Given the description of an element on the screen output the (x, y) to click on. 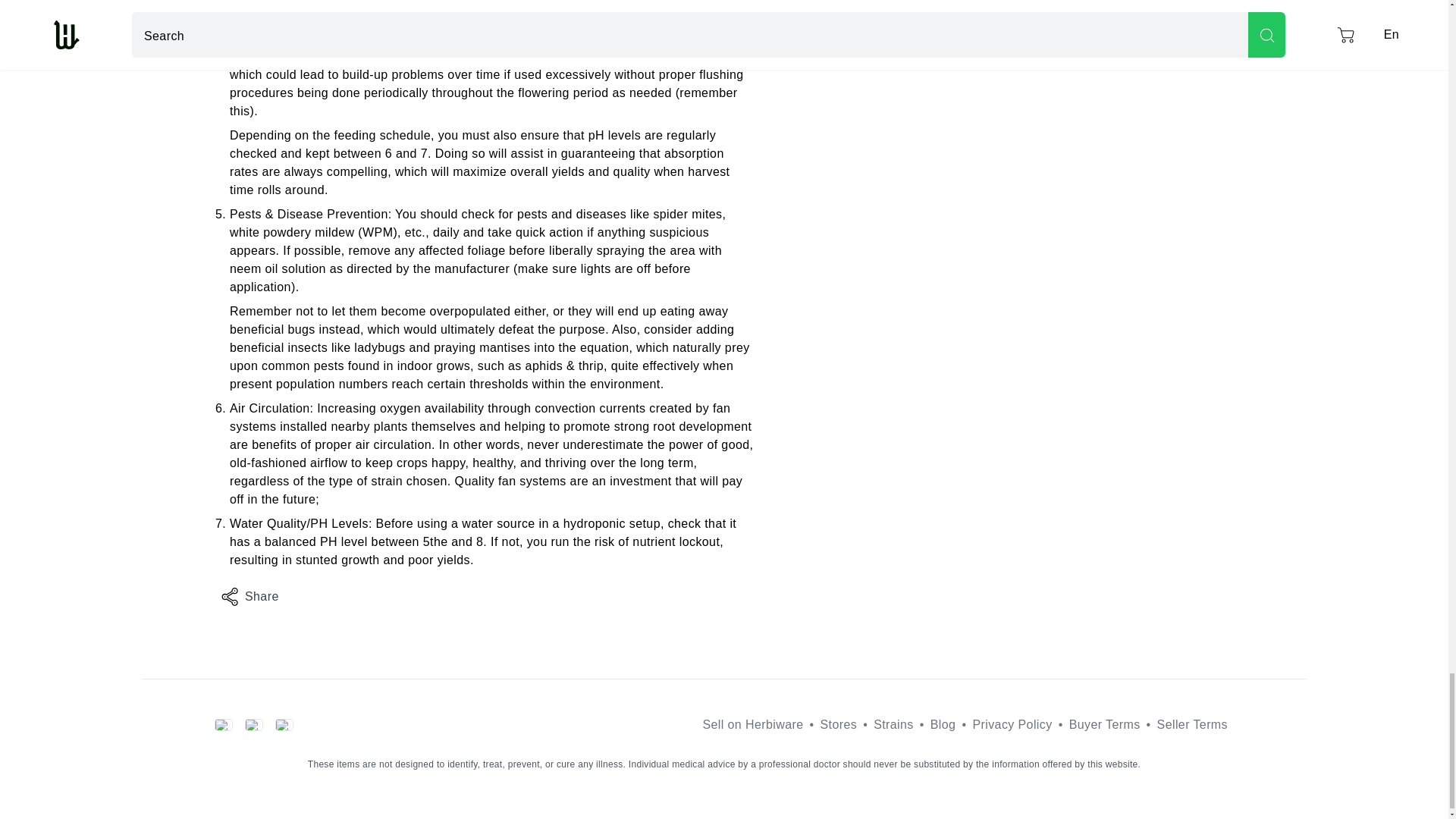
Stores (838, 724)
Switch language to: ru (290, 725)
Share (249, 596)
Seller Terms (1192, 724)
th (229, 725)
Blog (943, 724)
Sell on Herbiware (752, 724)
Switch language to: en (259, 725)
Share (249, 596)
Strains (893, 724)
Switch language to: th (229, 725)
Buyer Terms (1104, 724)
ru (290, 725)
en (259, 725)
Sell on Herbiware (752, 724)
